Given the description of an element on the screen output the (x, y) to click on. 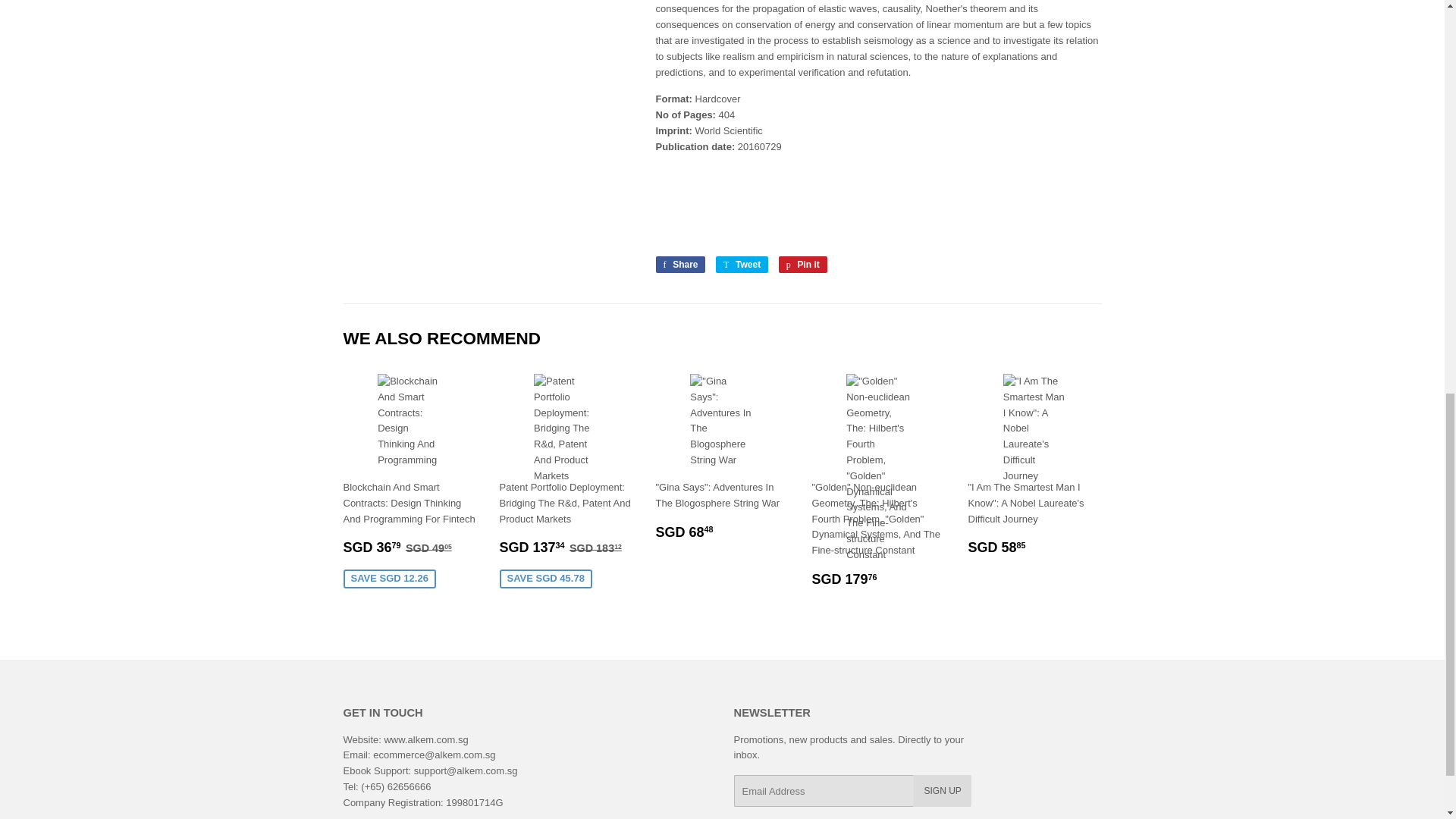
Share on Facebook (679, 264)
Tweet on Twitter (742, 264)
Pin on Pinterest (802, 264)
